Given the description of an element on the screen output the (x, y) to click on. 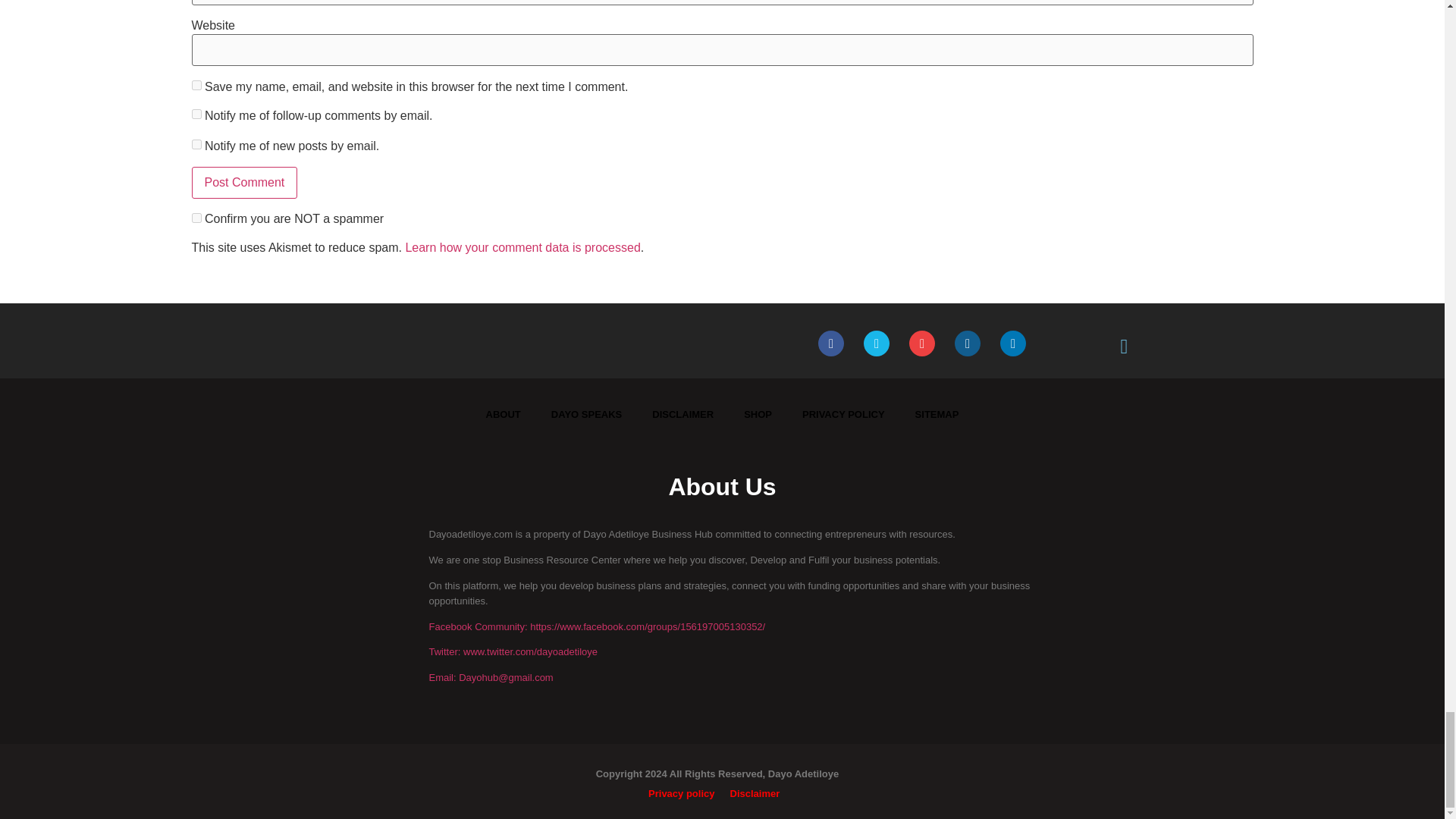
subscribe (195, 144)
subscribe (195, 113)
on (195, 217)
Post Comment (243, 183)
yes (195, 85)
